Given the description of an element on the screen output the (x, y) to click on. 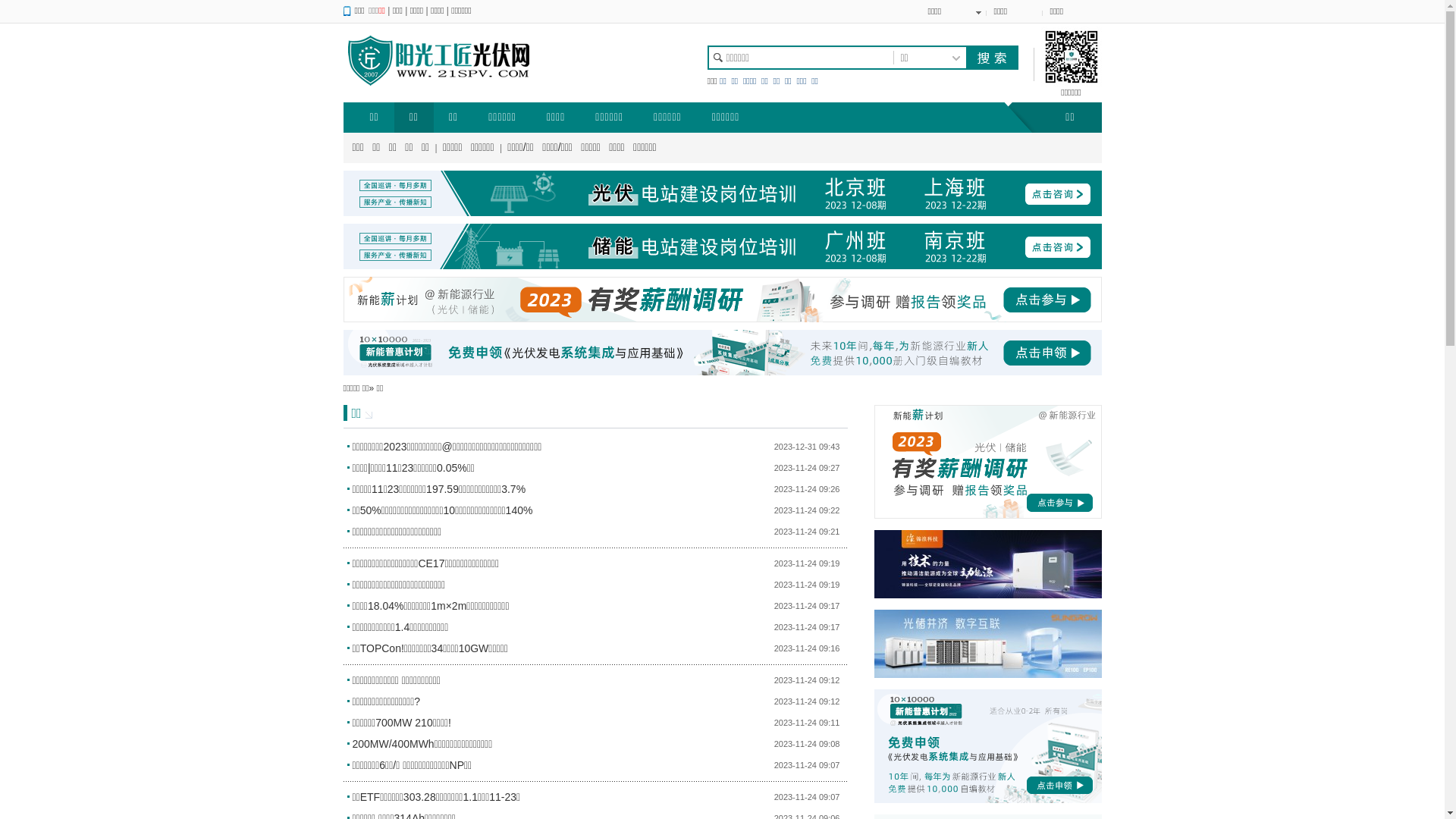
  Element type: text (990, 57)
